Given the description of an element on the screen output the (x, y) to click on. 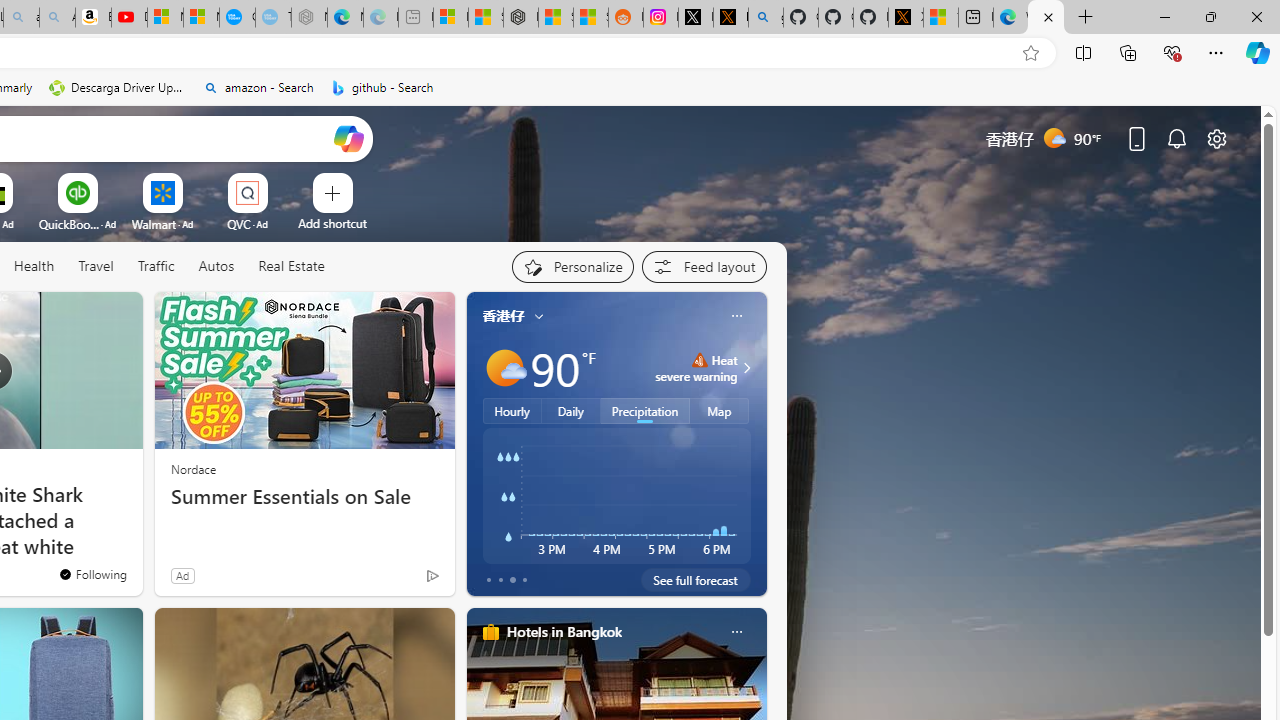
Click to see more information (744, 367)
You're following The Weather Channel (390, 579)
3 PM 4 PM 5 PM 6 PM (616, 495)
Class: weather-arrow-glyph (746, 367)
Add a site (332, 223)
Feed settings (703, 266)
Personalize your feed" (571, 266)
